Given the description of an element on the screen output the (x, y) to click on. 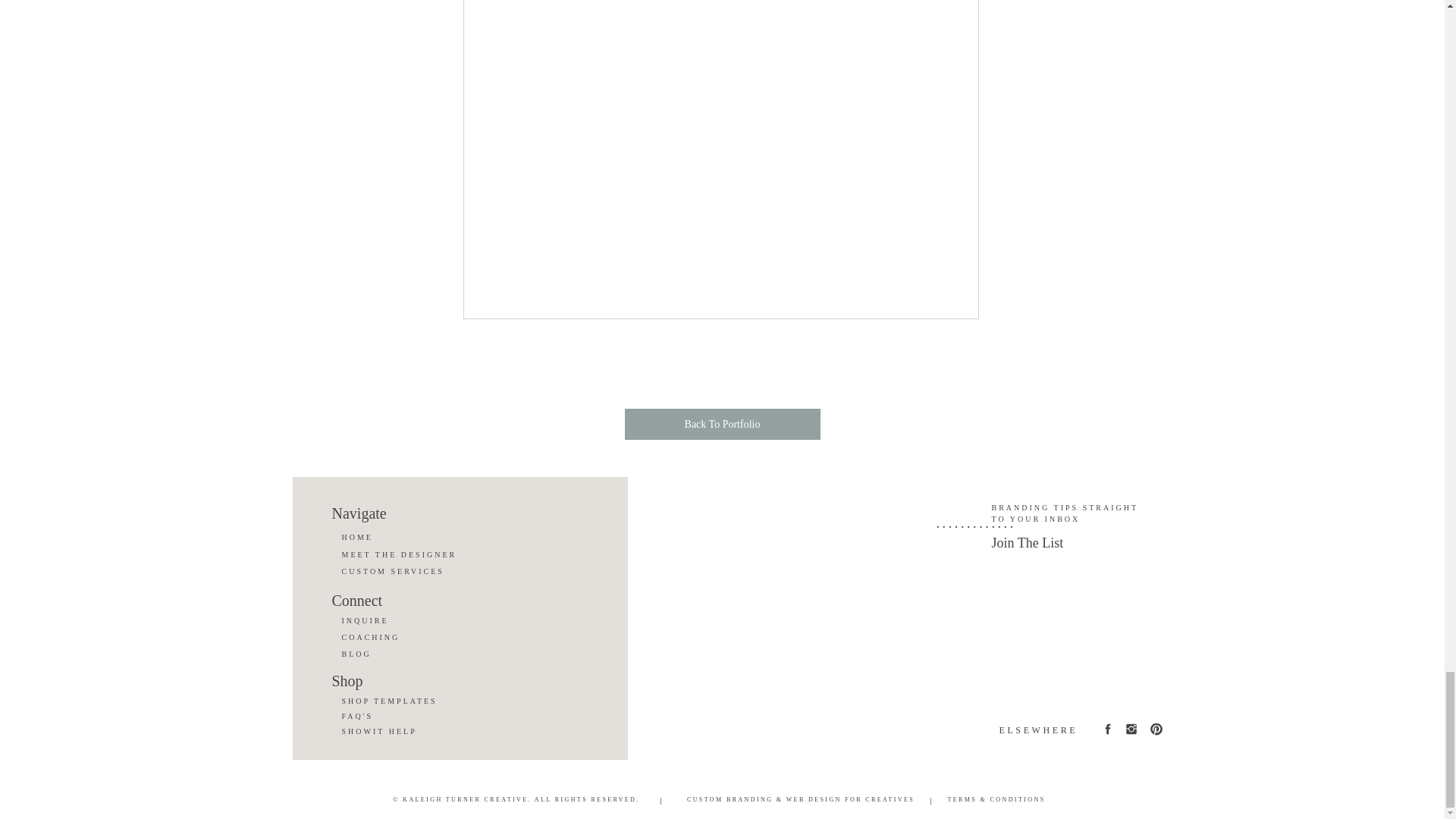
MEET THE DESIGNER (421, 554)
Back To Portfolio (721, 423)
COACHING (392, 636)
SHOP TEMPLATES (410, 700)
INQUIRE (392, 620)
FAQ'S (392, 715)
SHOWIT HELP (392, 730)
BLOG (392, 653)
CUSTOM SERVICES (428, 571)
HOME (429, 537)
